Given the description of an element on the screen output the (x, y) to click on. 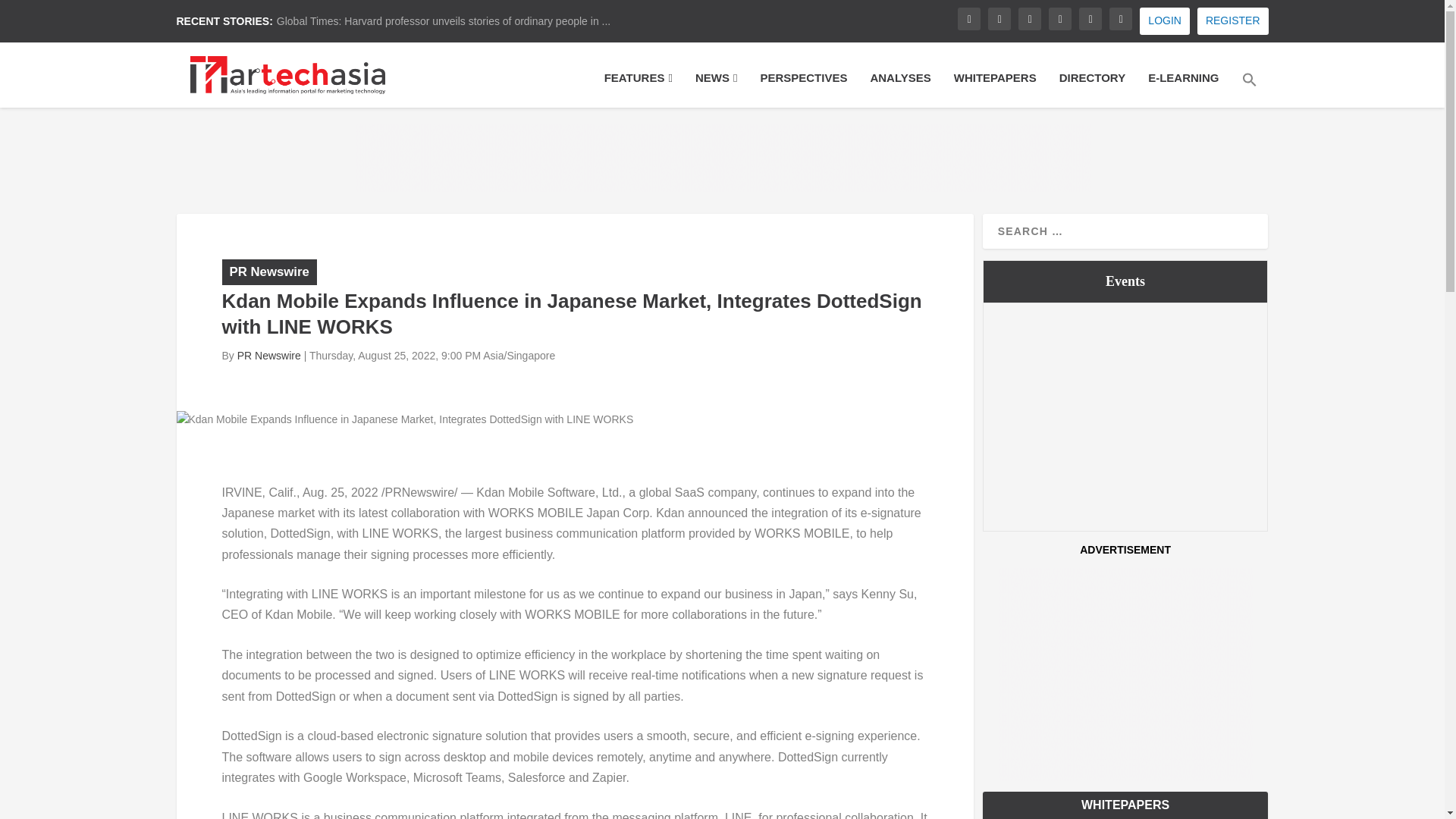
REGISTER (1232, 21)
NEWS (715, 87)
3rd party ad content (722, 157)
LOGIN (1164, 21)
FEATURES (638, 87)
DIRECTORY (1092, 87)
E-LEARNING (1183, 87)
ANALYSES (899, 87)
WHITEPAPERS (994, 87)
Posts by PR Newswire (269, 355)
PERSPECTIVES (803, 87)
